Given the description of an element on the screen output the (x, y) to click on. 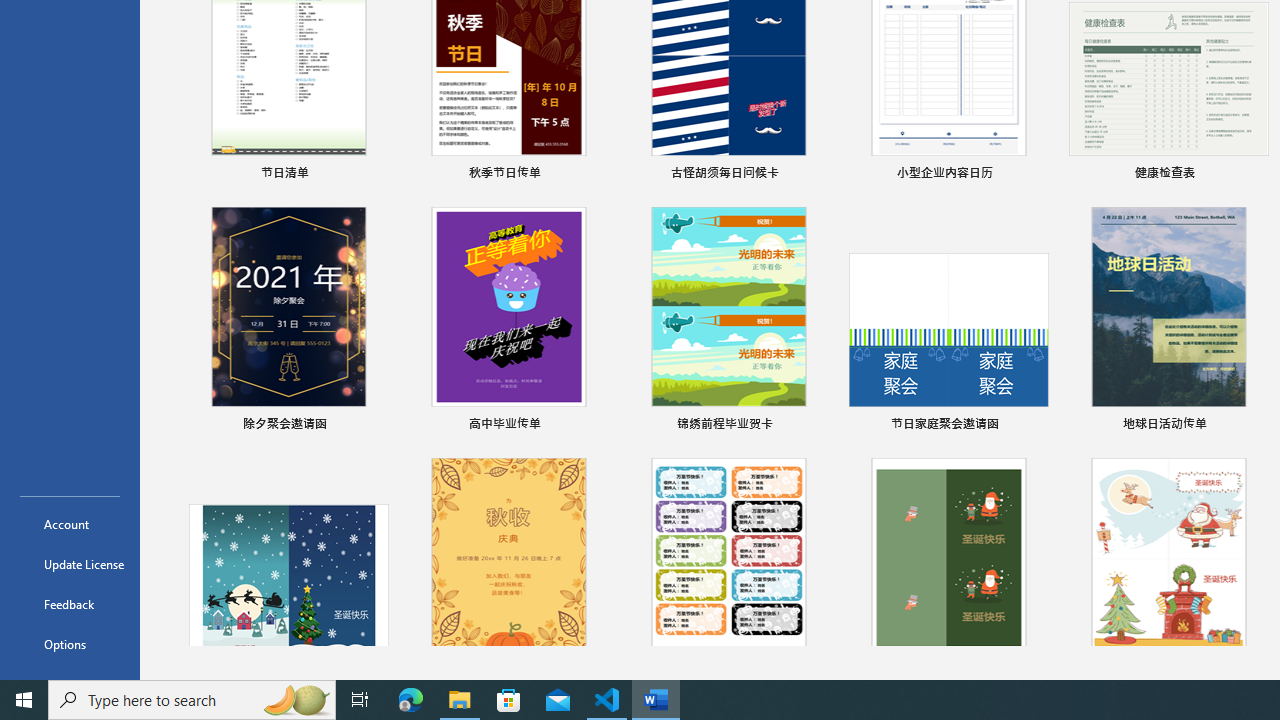
Feedback (69, 603)
Account (69, 523)
Update License (69, 563)
Pin to list (1255, 425)
Options (69, 643)
